Given the description of an element on the screen output the (x, y) to click on. 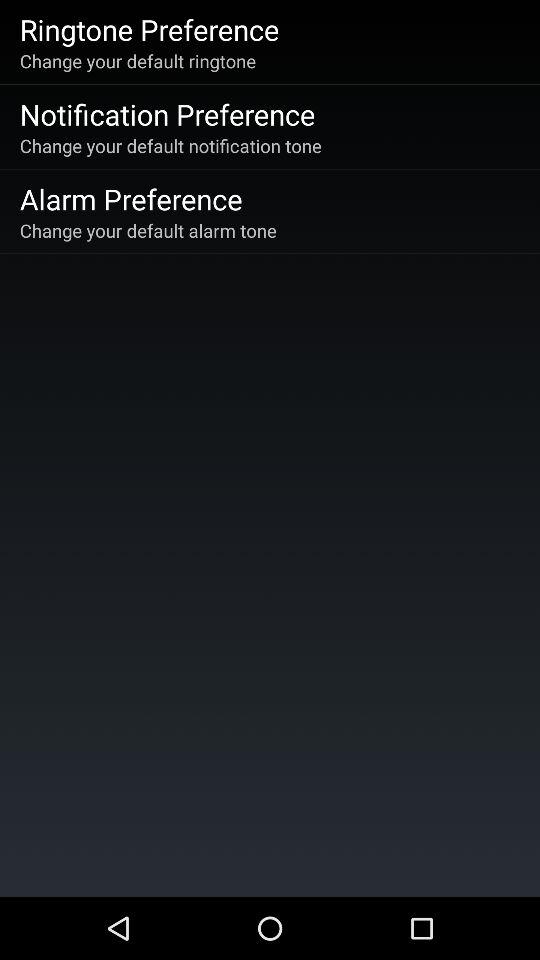
click the notification preference (167, 113)
